Given the description of an element on the screen output the (x, y) to click on. 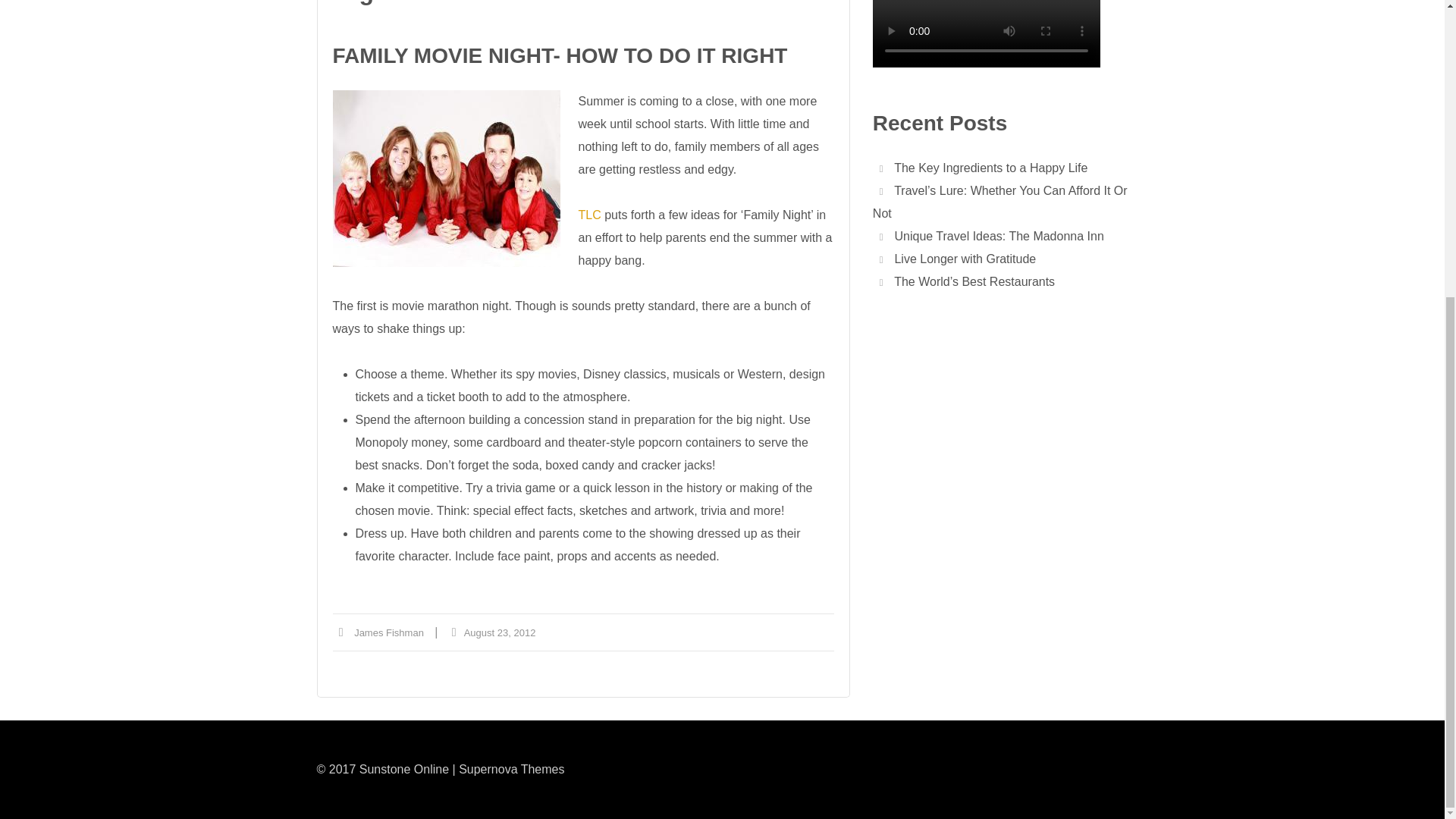
TLC (591, 214)
FAMILY MOVIE NIGHT- HOW TO DO IT RIGHT (559, 55)
family-movie (445, 178)
